Given the description of an element on the screen output the (x, y) to click on. 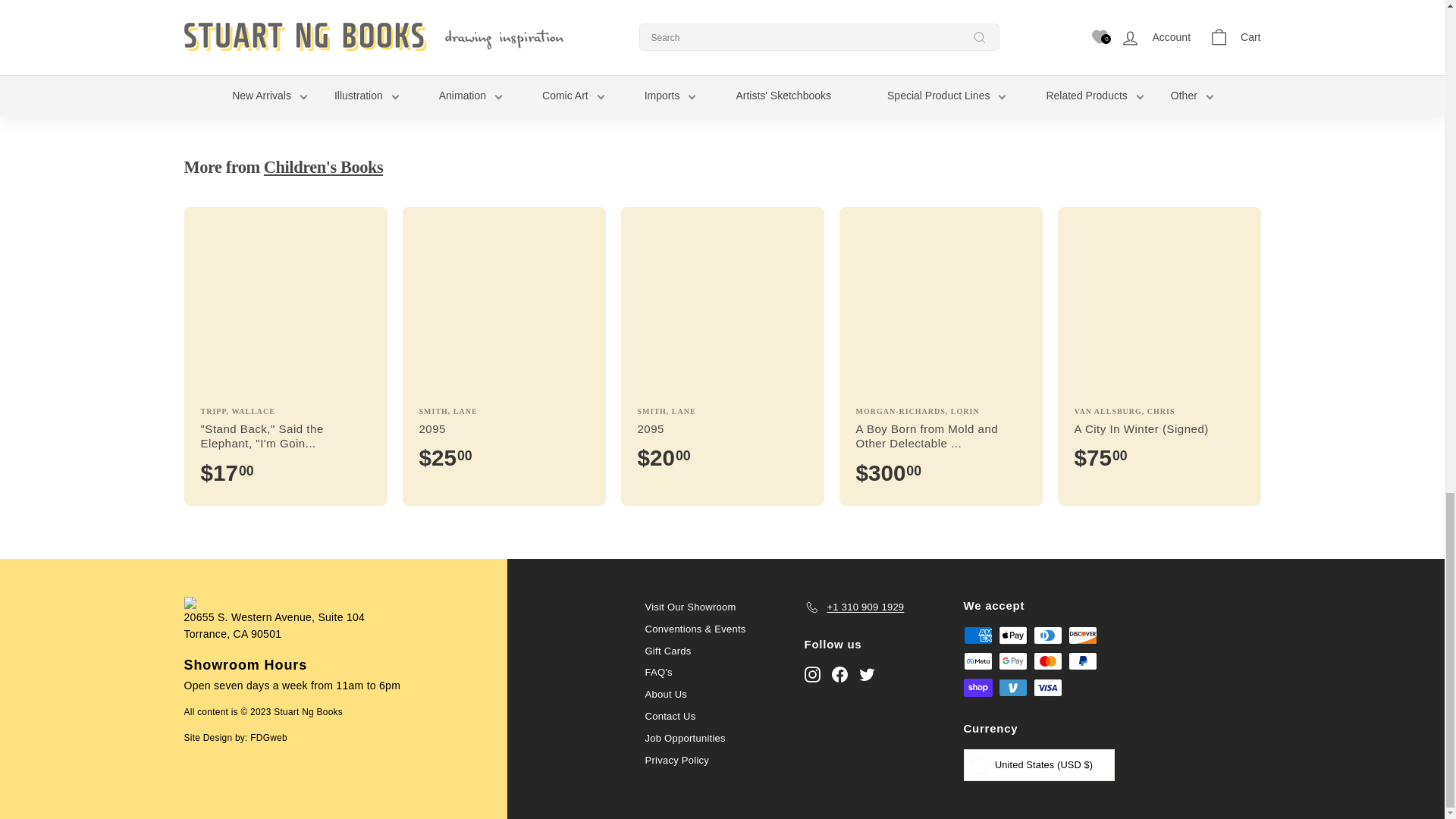
Discover (1081, 635)
Mastercard (1046, 660)
Meta Pay (976, 660)
Stuart Ng Books on Facebook (839, 673)
Shop Pay (976, 687)
Google Pay (1011, 660)
American Express (976, 635)
Diners Club (1046, 635)
Stuart Ng Books on Twitter (867, 673)
PayPal (1081, 660)
Stuart Ng Books on Instagram (811, 673)
Apple Pay (1011, 635)
